Given the description of an element on the screen output the (x, y) to click on. 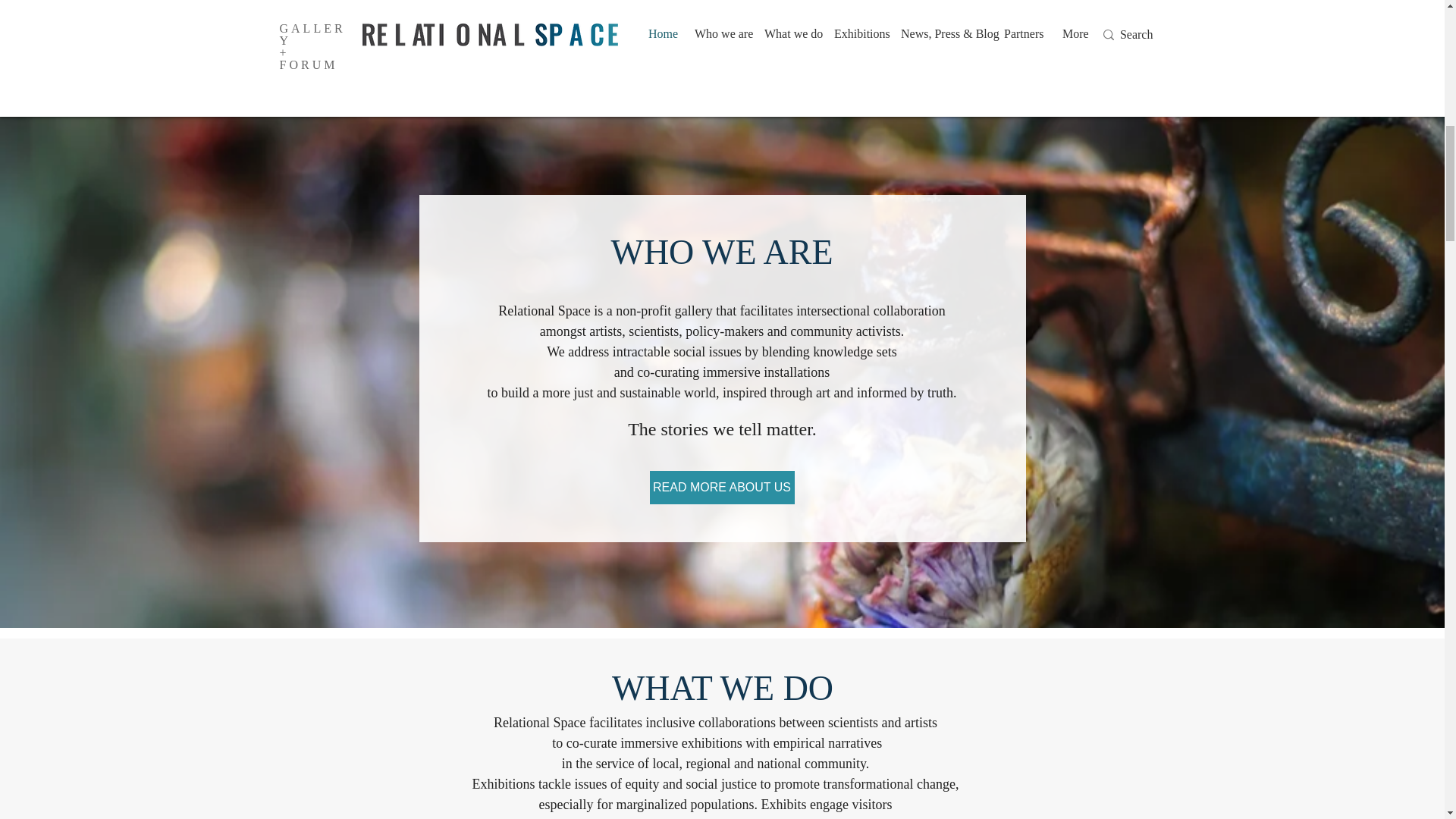
READ MORE ABOUT US (721, 487)
